Given the description of an element on the screen output the (x, y) to click on. 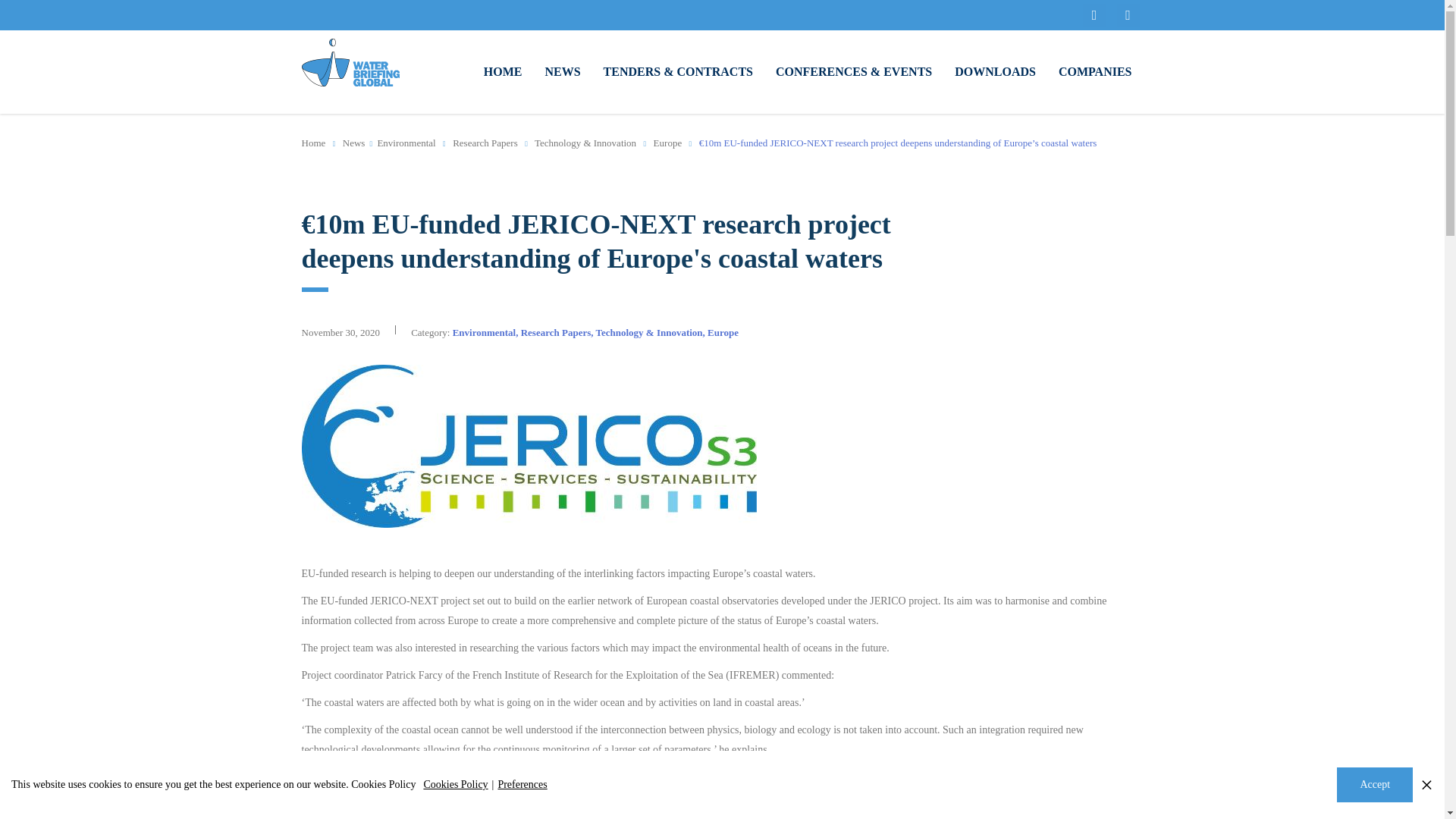
HOME (502, 71)
DOWNLOADS (994, 71)
NEWS (561, 71)
